Given the description of an element on the screen output the (x, y) to click on. 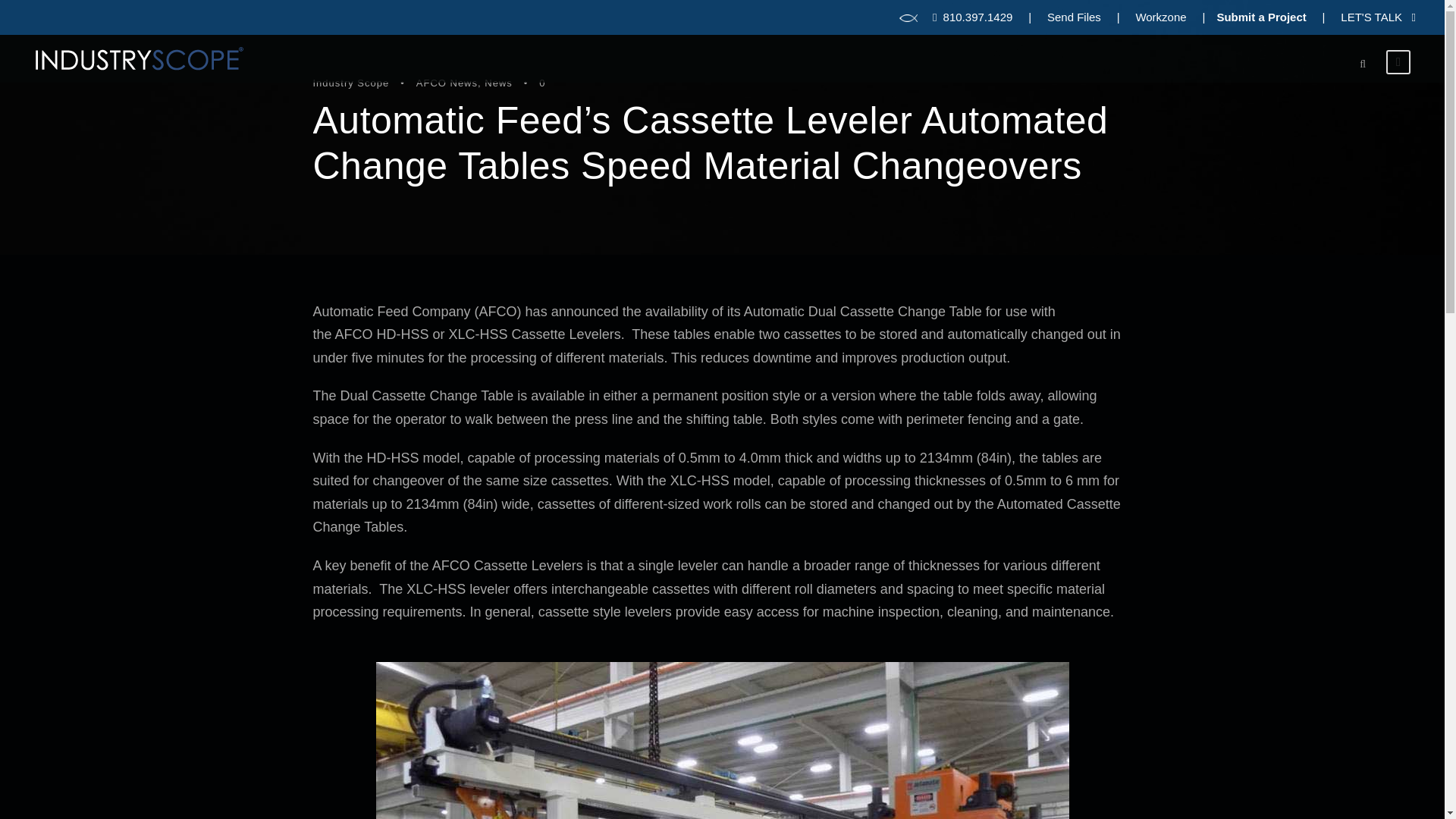
Cassette-Change-Table-content (721, 740)
iscope-logo (140, 57)
AFCO News (446, 82)
Submit a Project (1260, 16)
Send Files (1073, 16)
810.397.1429 (978, 16)
News (498, 82)
Cookie Policy  (920, 581)
Posts by Industry Scope (350, 82)
LET'S TALK   (1381, 16)
Industry Scope (350, 82)
Workzone (1160, 16)
